Given the description of an element on the screen output the (x, y) to click on. 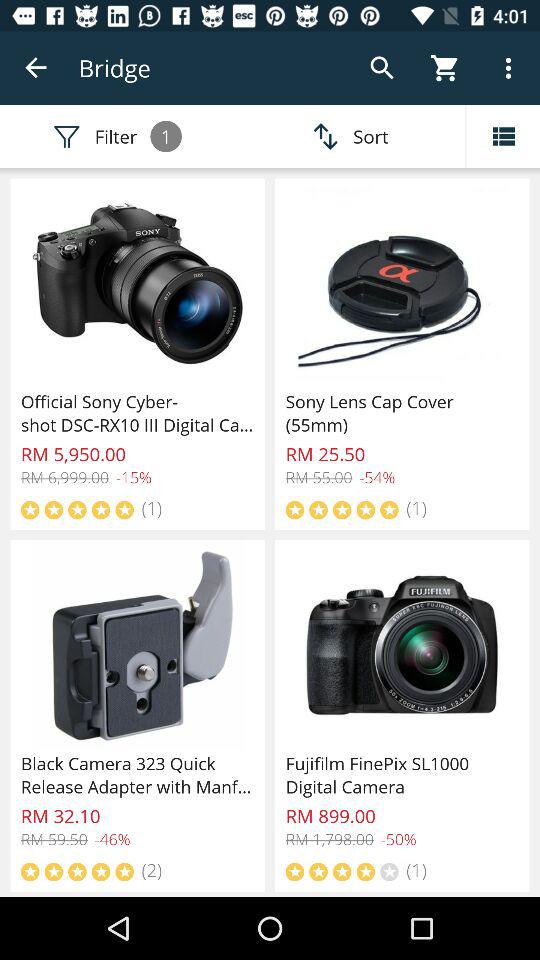
choose icon above filter (36, 68)
